Given the description of an element on the screen output the (x, y) to click on. 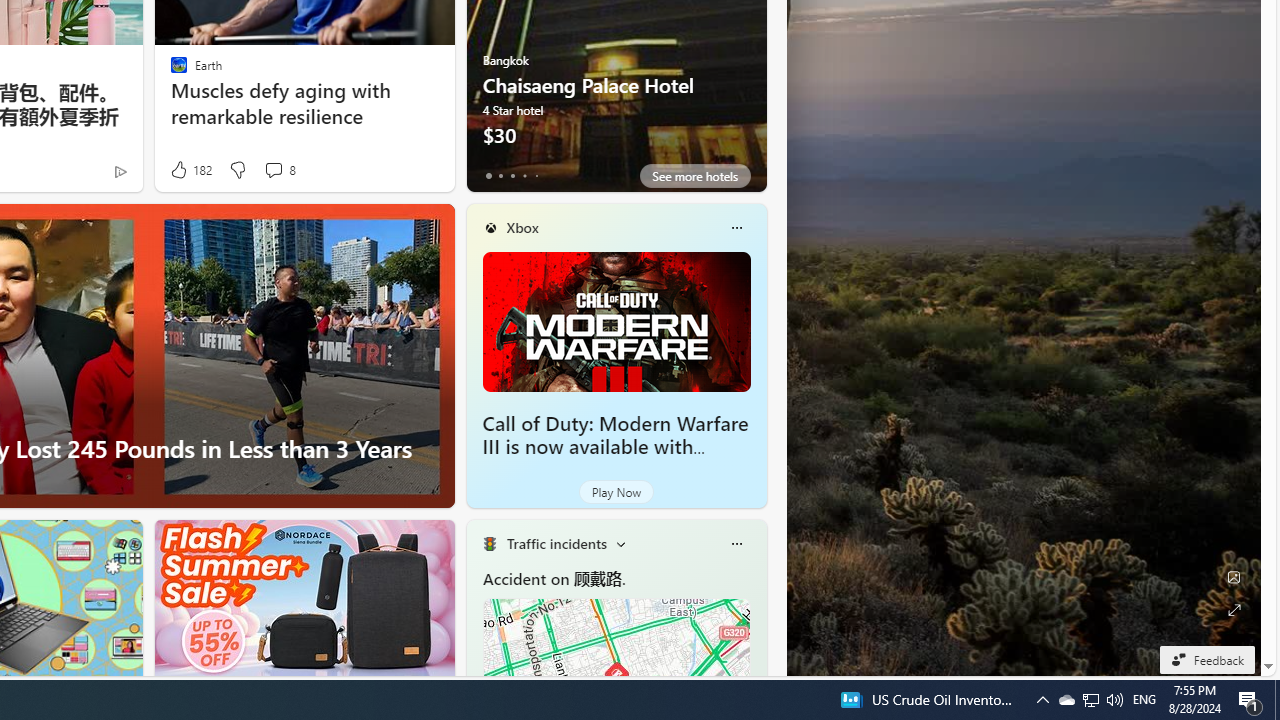
Play Now (616, 491)
tab-2 (511, 175)
Change scenarios (620, 543)
Edit Background (1233, 577)
Traffic incidents (555, 543)
